Given the description of an element on the screen output the (x, y) to click on. 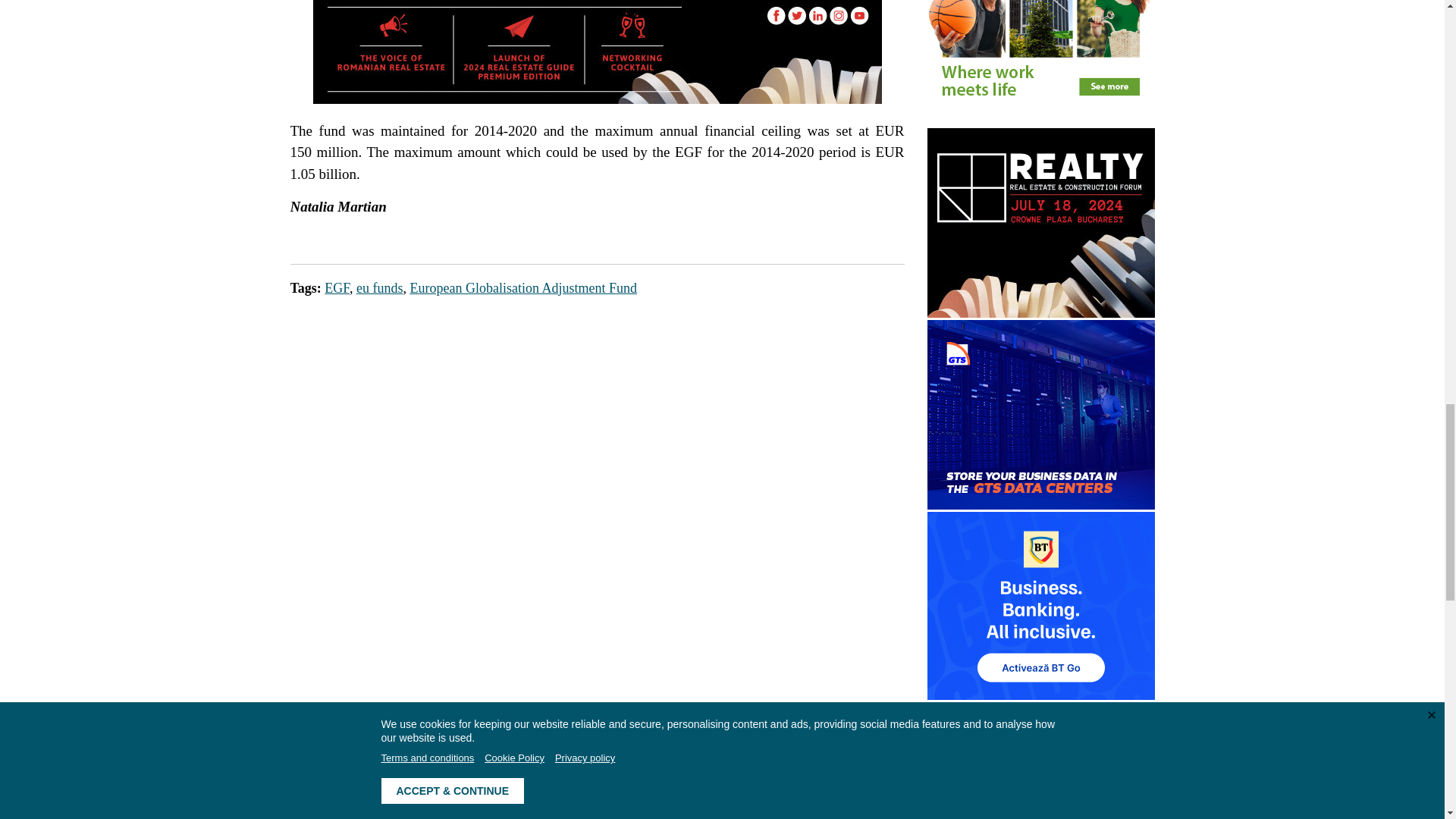
eu funds (379, 287)
European Globalisation Adjustment Fund (522, 287)
EGF (336, 287)
